Given the description of an element on the screen output the (x, y) to click on. 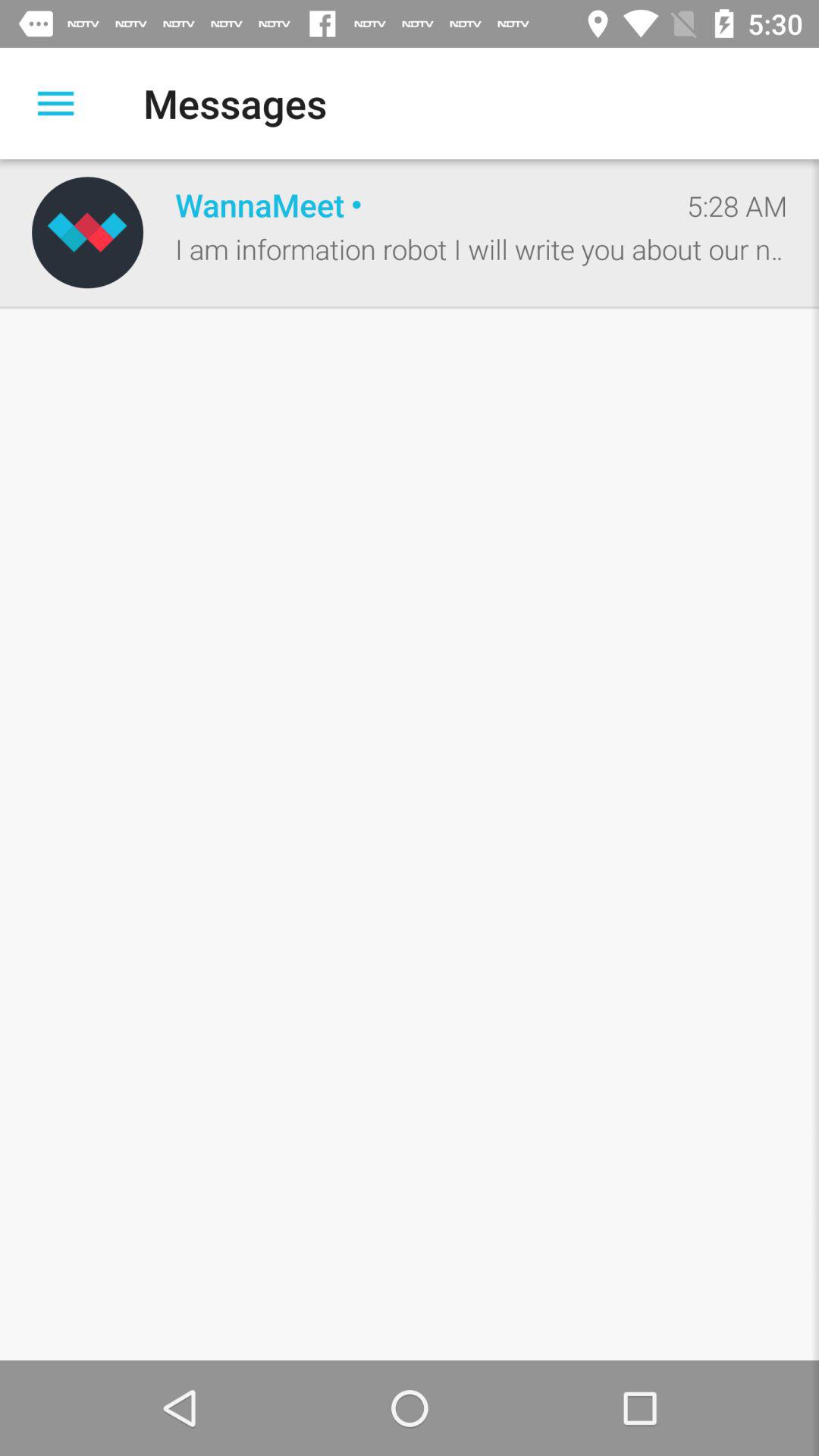
click icon below the messages item (415, 204)
